Given the description of an element on the screen output the (x, y) to click on. 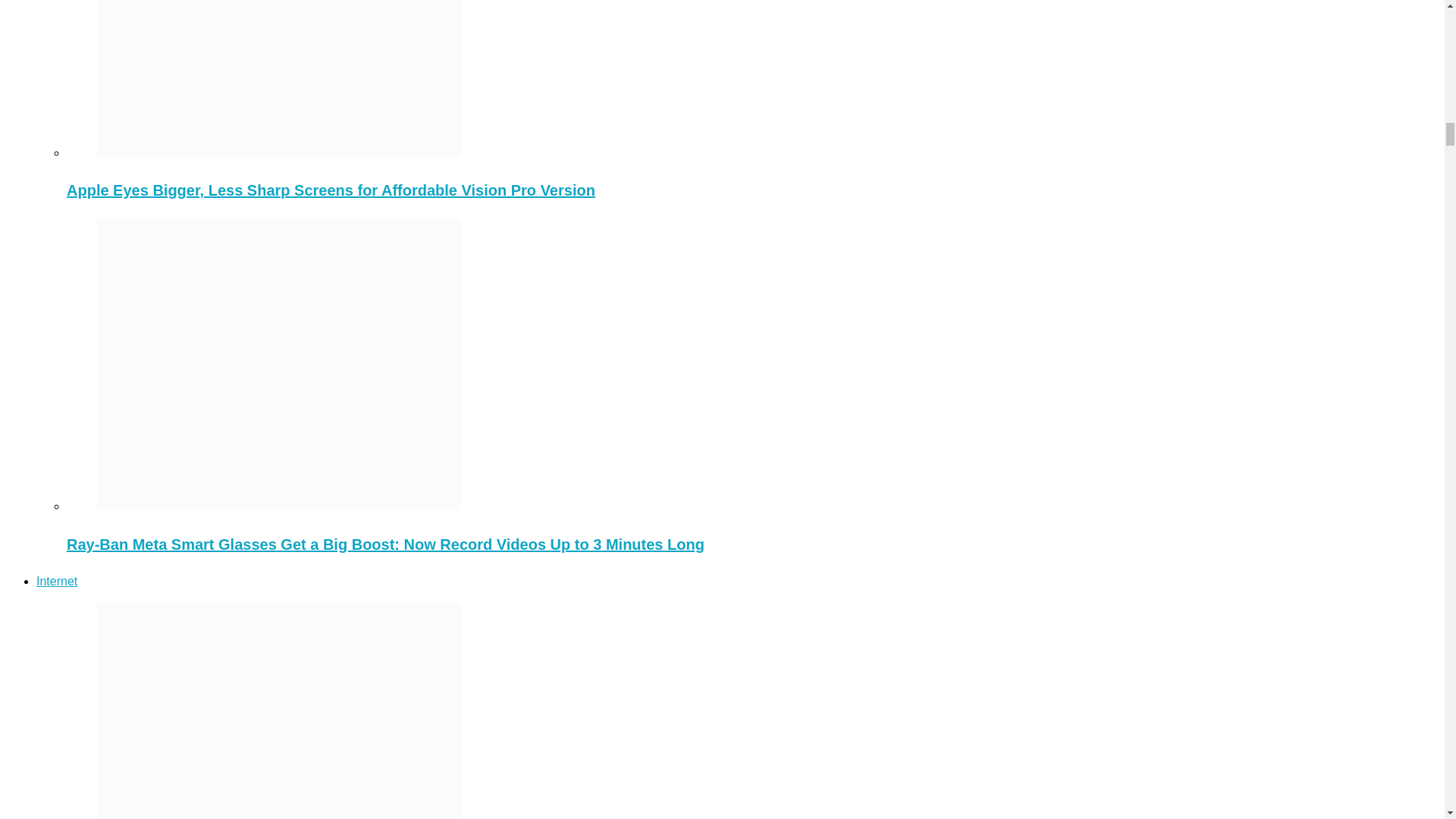
Internet (56, 581)
